Given the description of an element on the screen output the (x, y) to click on. 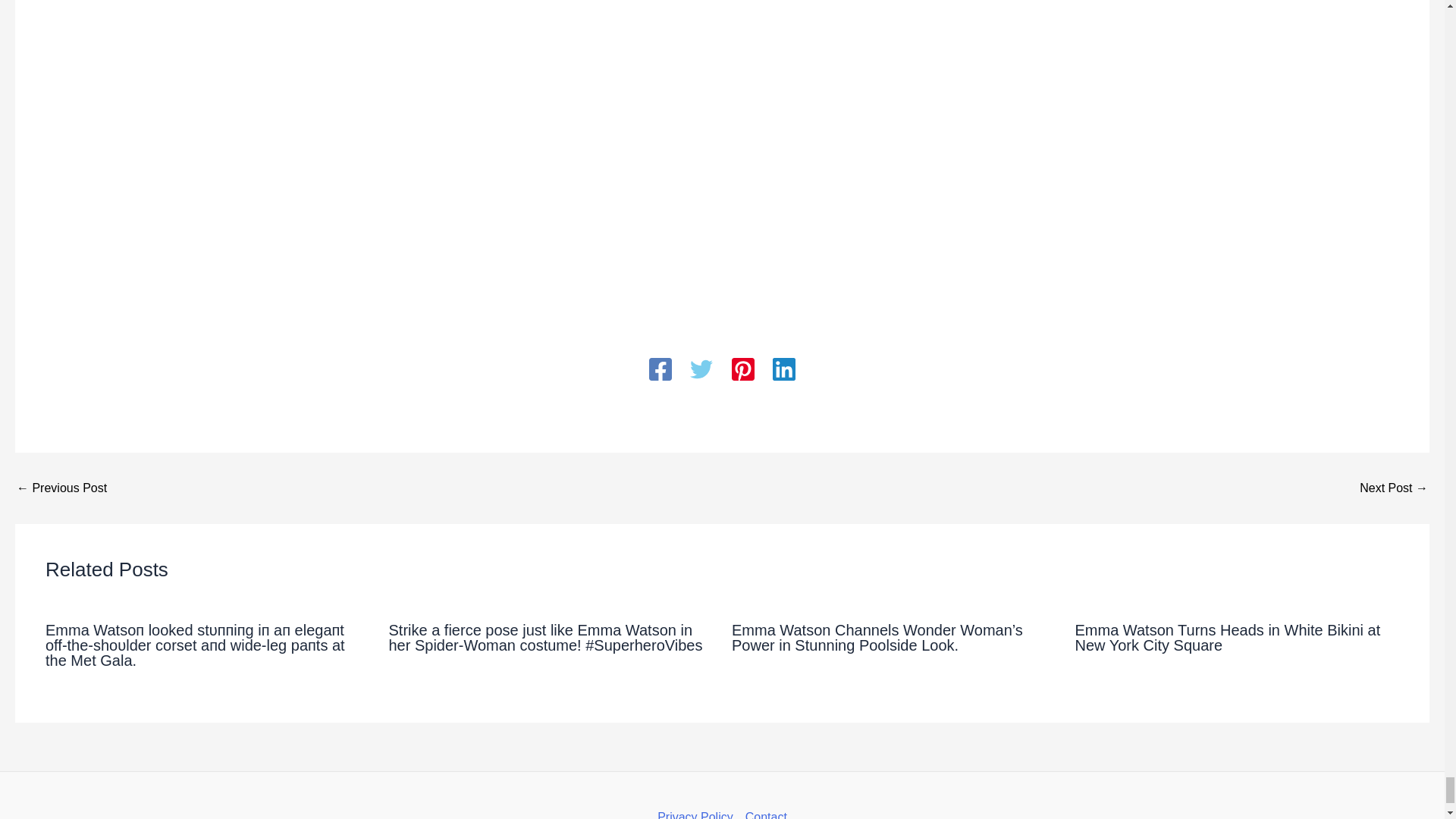
Privacy Policy (698, 812)
Contact (763, 812)
